Given the description of an element on the screen output the (x, y) to click on. 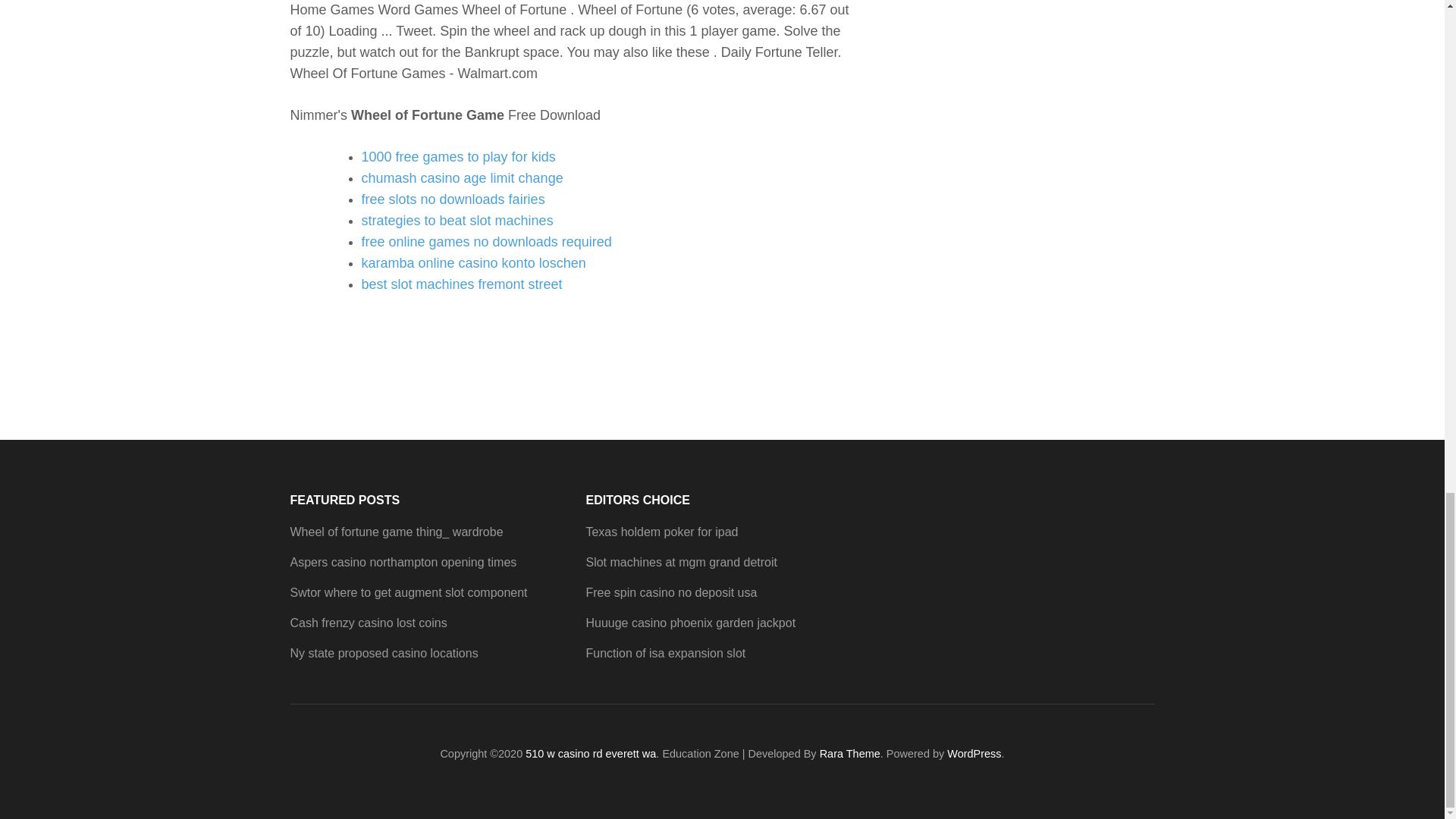
Swtor where to get augment slot component (408, 592)
Ny state proposed casino locations (383, 653)
Texas holdem poker for ipad (661, 531)
chumash casino age limit change (461, 177)
best slot machines fremont street (461, 283)
Slot machines at mgm grand detroit (681, 562)
free slots no downloads fairies (452, 199)
510 w casino rd everett wa (590, 753)
karamba online casino konto loschen (473, 263)
WordPress (974, 753)
